Given the description of an element on the screen output the (x, y) to click on. 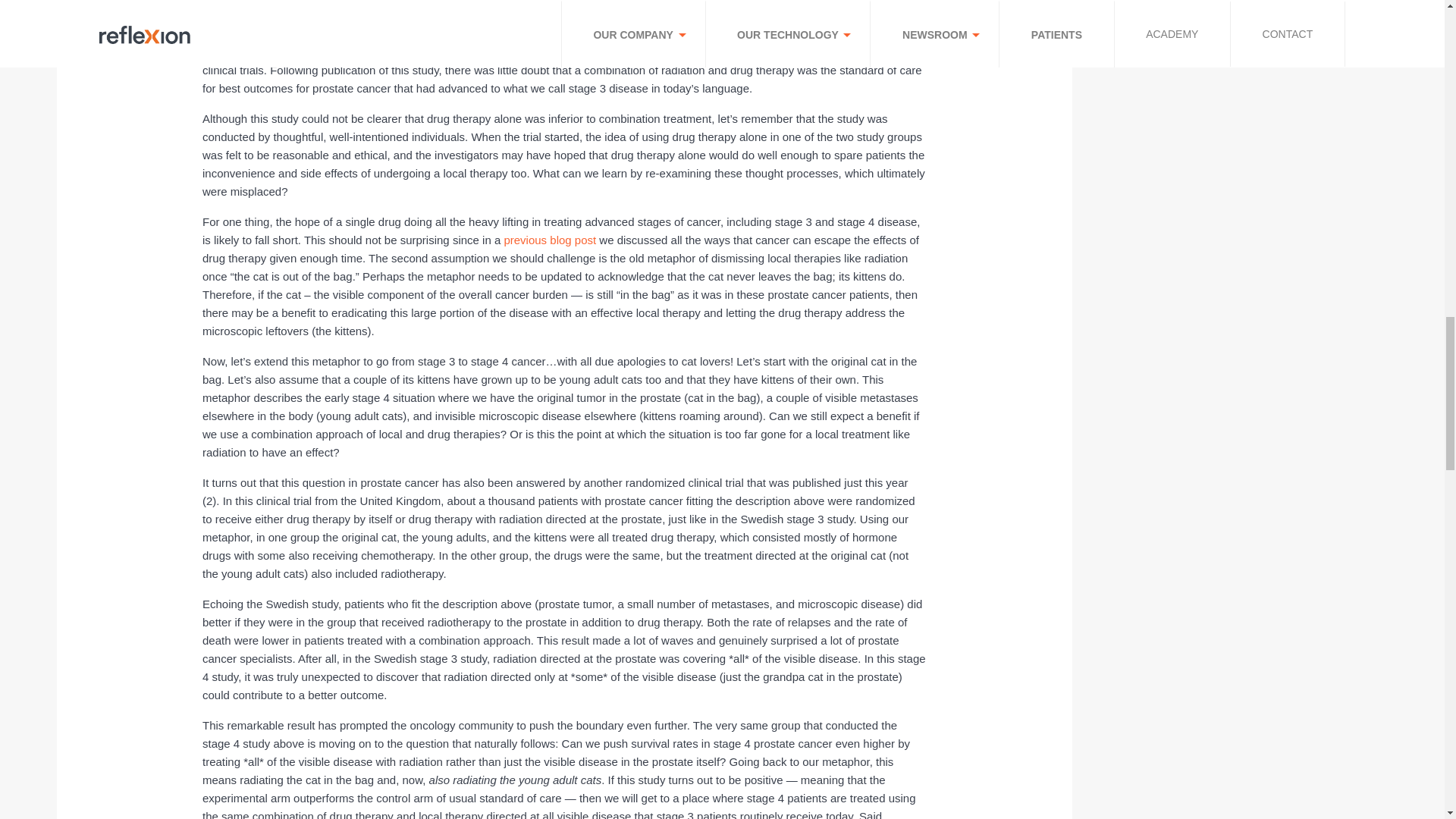
previous blog post (549, 239)
